Given the description of an element on the screen output the (x, y) to click on. 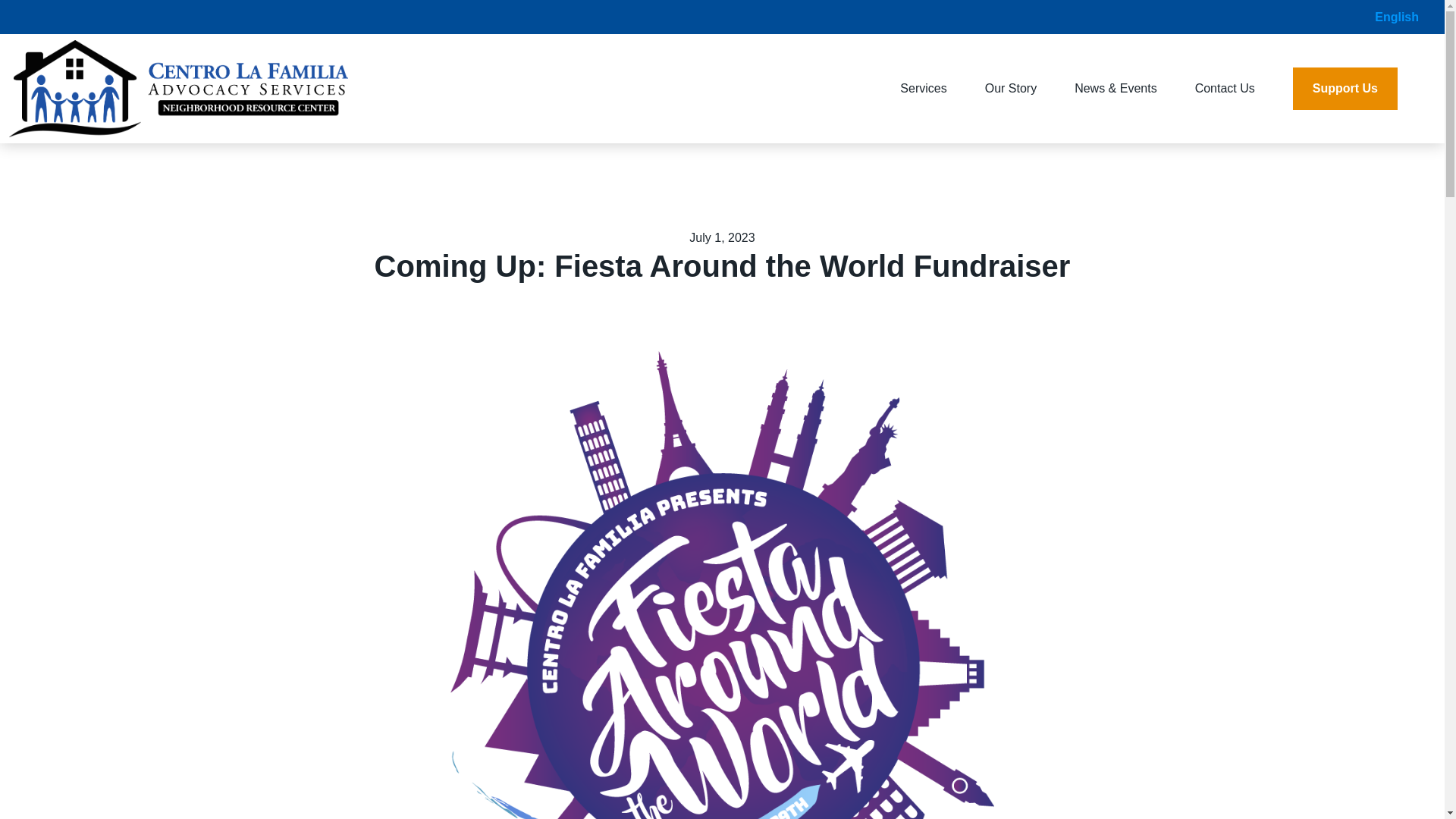
Services (922, 88)
Contact Us (1225, 88)
English (1396, 16)
Our Story (1010, 88)
Support Us (1344, 87)
